Given the description of an element on the screen output the (x, y) to click on. 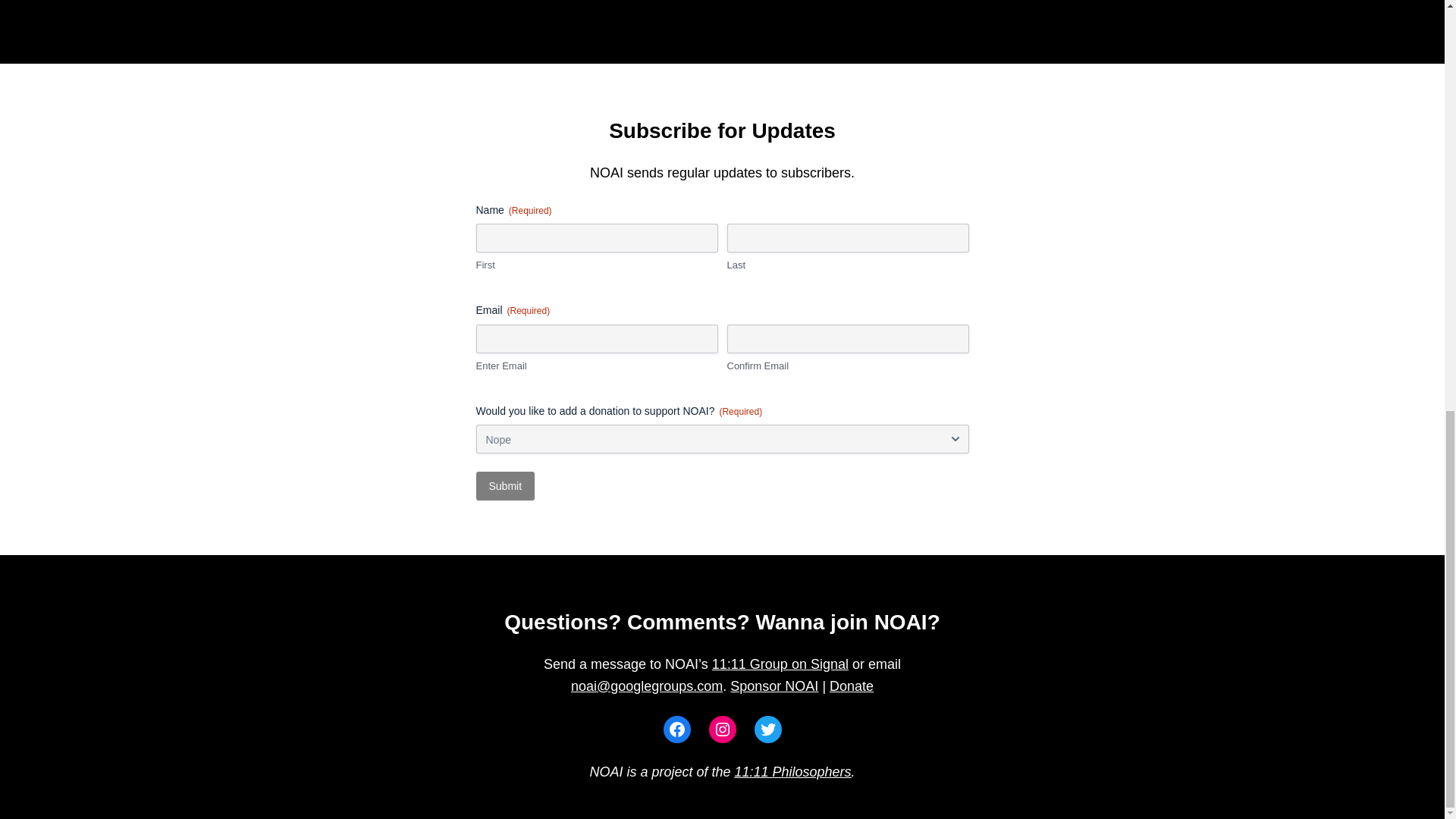
Twitter (767, 728)
Donate (851, 685)
11:11 Group on Signal (779, 663)
Instagram (721, 728)
Sponsor NOAI (774, 685)
Facebook (676, 728)
Submit (505, 485)
Submit (505, 485)
11:11 Philosophers (791, 771)
